Given the description of an element on the screen output the (x, y) to click on. 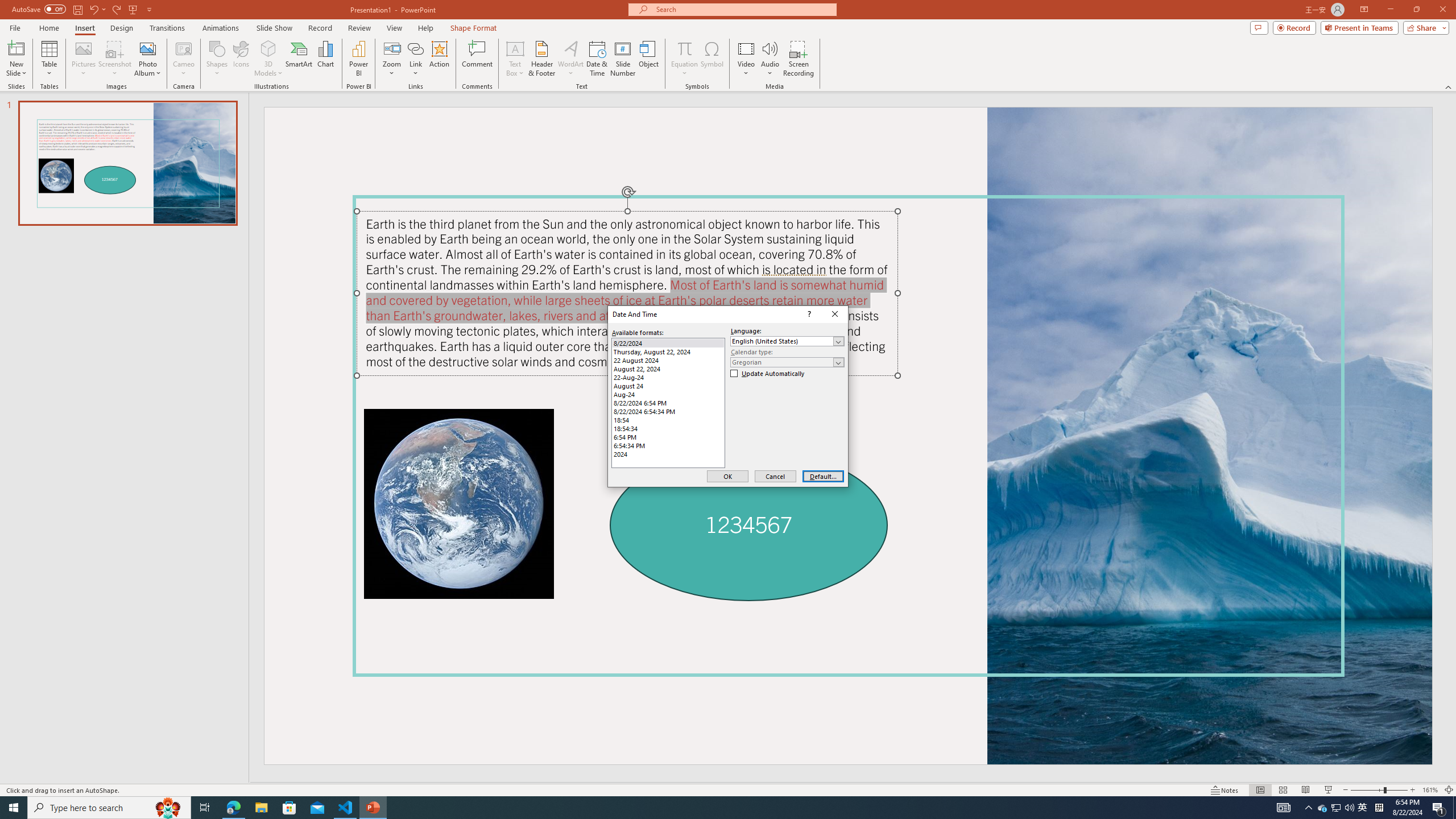
Action Center, 1 new notification (1439, 807)
SmartArt... (298, 58)
18:54:34 (667, 428)
Equation (683, 48)
3D Models (268, 48)
8/22/2024 6:54:34 PM (667, 411)
User Promoted Notification Area (1336, 807)
22-Aug-24 (667, 377)
Icons (240, 58)
